Given the description of an element on the screen output the (x, y) to click on. 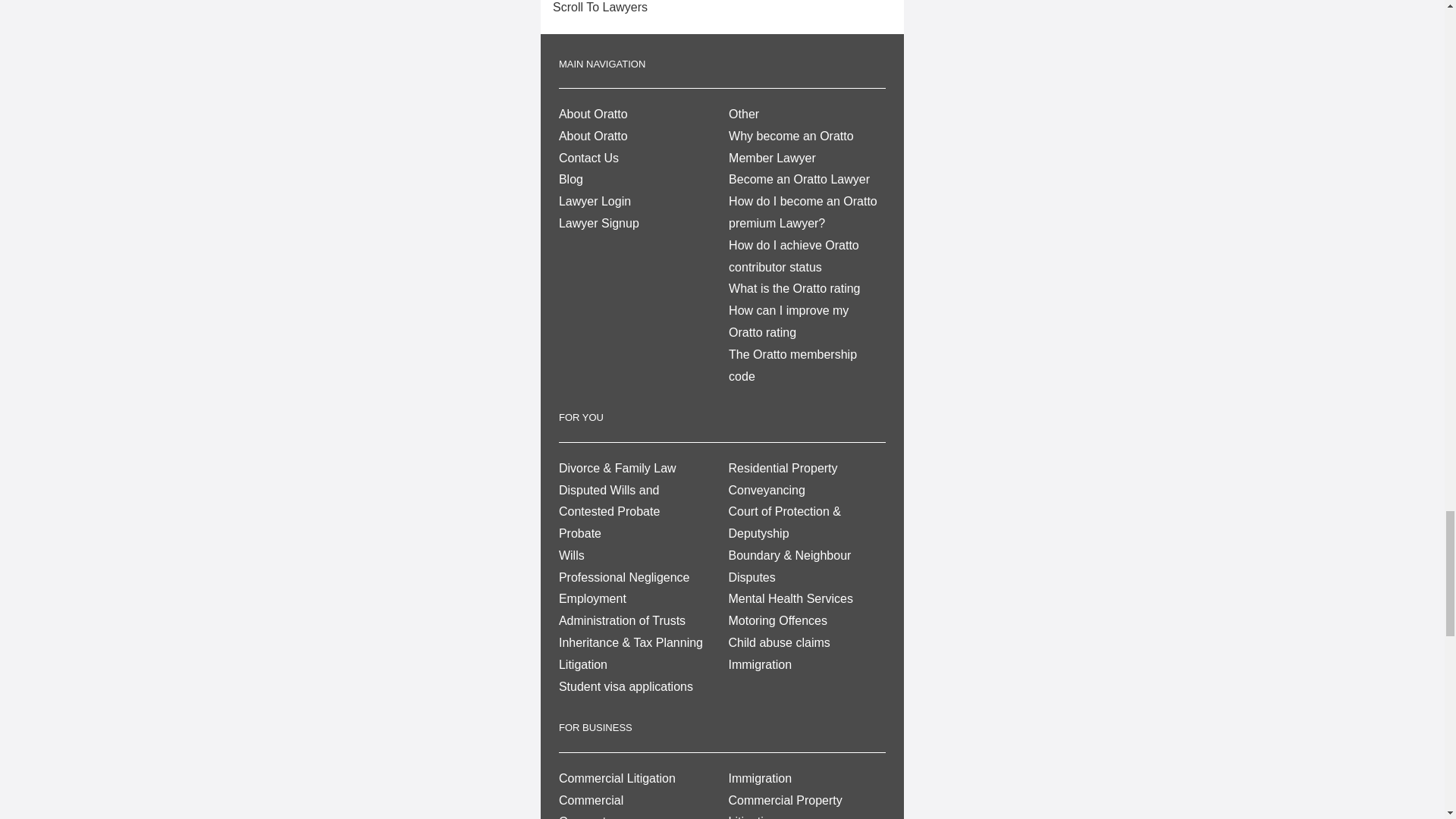
Lawyer Signup (599, 223)
Commercial Litigation (617, 778)
The Oratto membership code (793, 365)
Child abuse claims (778, 642)
How can I improve my Oratto rating (788, 321)
Probate (580, 533)
Litigation (583, 664)
Disputed Wills and Contested Probate (609, 501)
Why become an Oratto Member Lawyer (791, 146)
Employment (592, 598)
Student visa applications (626, 686)
Wills (572, 554)
Administration of Trusts (622, 620)
Blog (571, 178)
Immigration (760, 664)
